Given the description of an element on the screen output the (x, y) to click on. 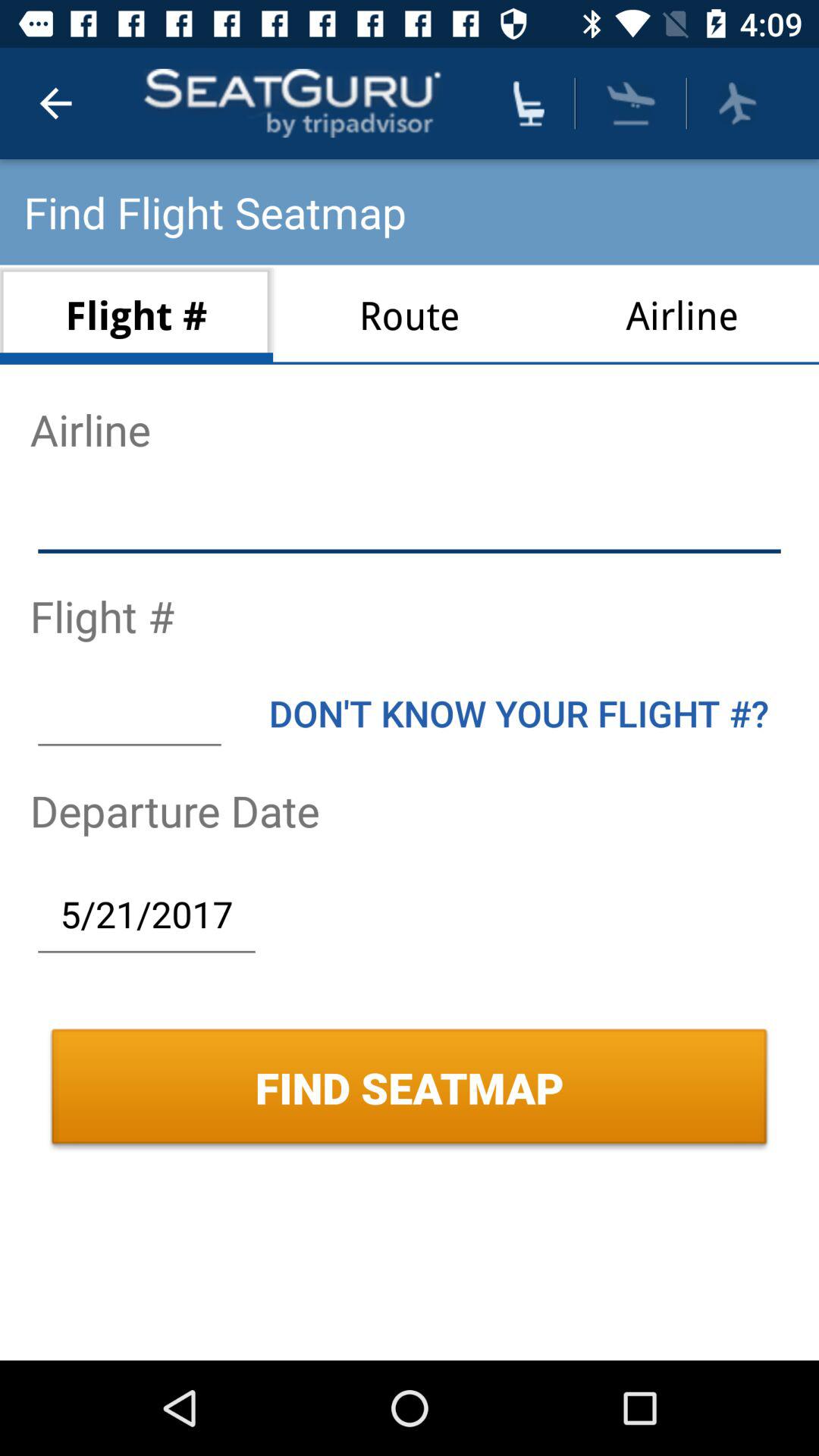
pick airline (737, 103)
